Given the description of an element on the screen output the (x, y) to click on. 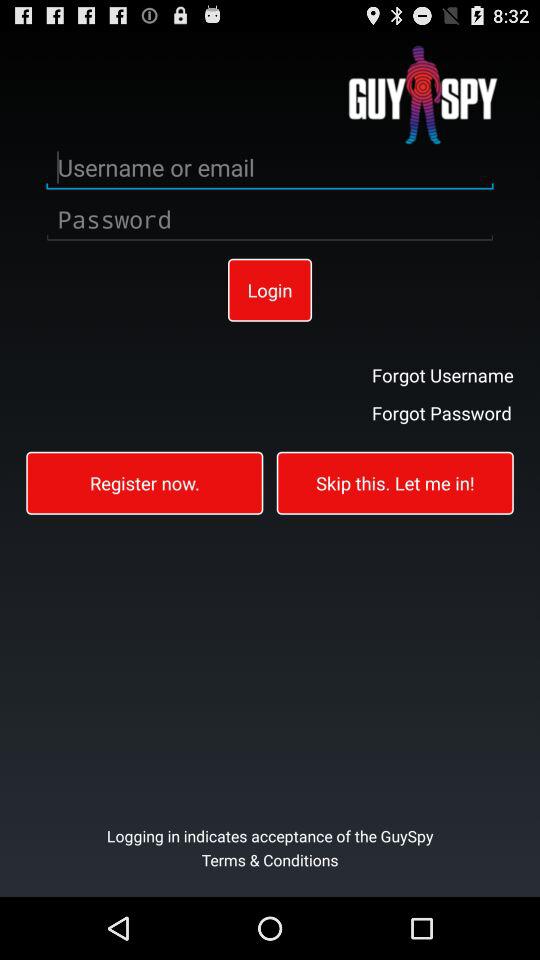
press item next to the skip this let item (144, 482)
